Given the description of an element on the screen output the (x, y) to click on. 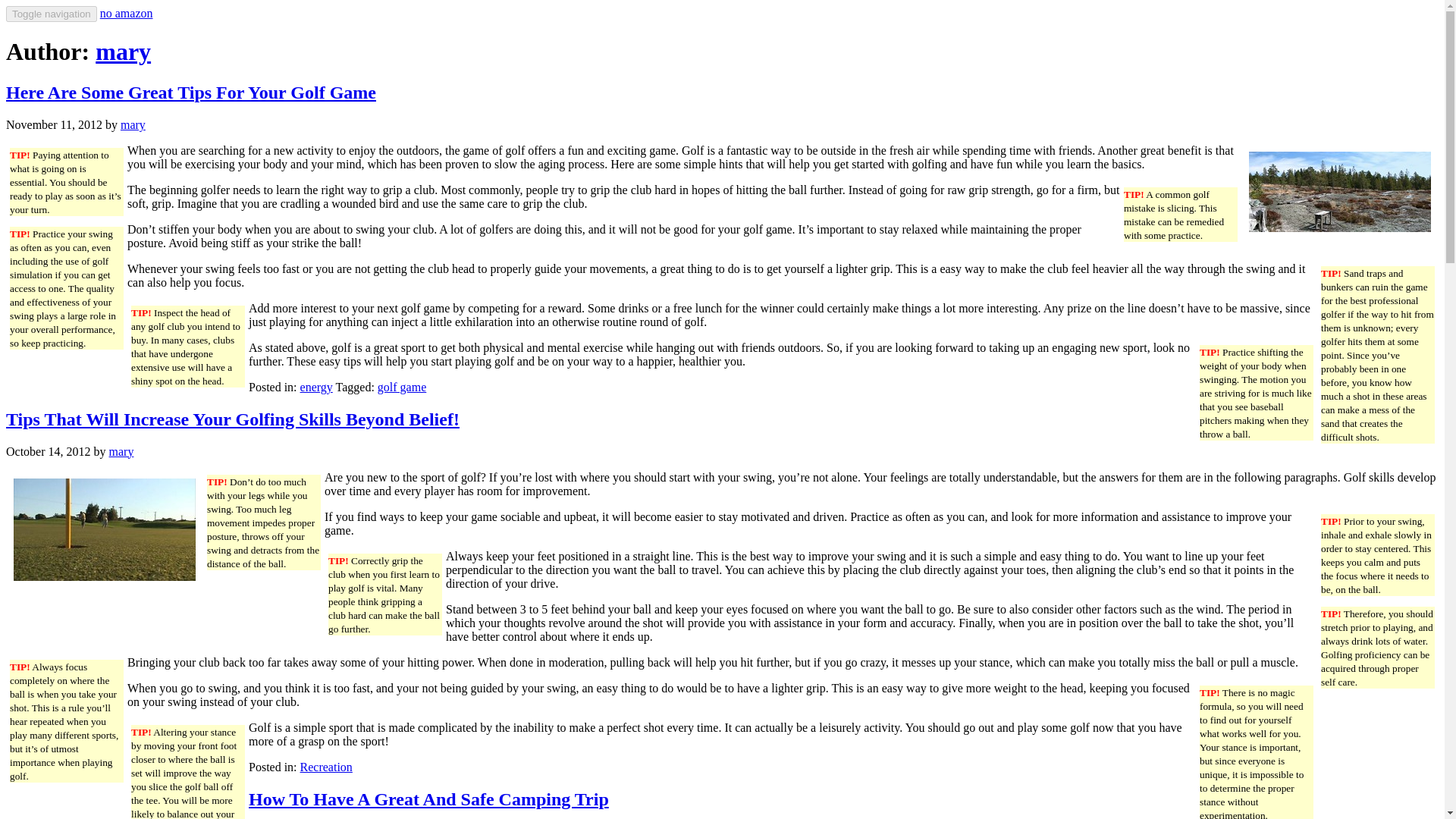
no amazon (126, 12)
Sunday, November 11, 2012, 9:15 pm (53, 124)
Posts by mary (121, 451)
How To Have A Great And Safe Camping Trip (428, 798)
Toggle navigation (51, 13)
mary (123, 51)
mary (121, 451)
Recreation (325, 766)
Tips That Will Increase Your Golfing Skills Beyond Belief! (232, 419)
mary (123, 51)
mary (132, 124)
Posts by mary (132, 124)
golf game (401, 386)
no amazon (126, 12)
energy (316, 386)
